Given the description of an element on the screen output the (x, y) to click on. 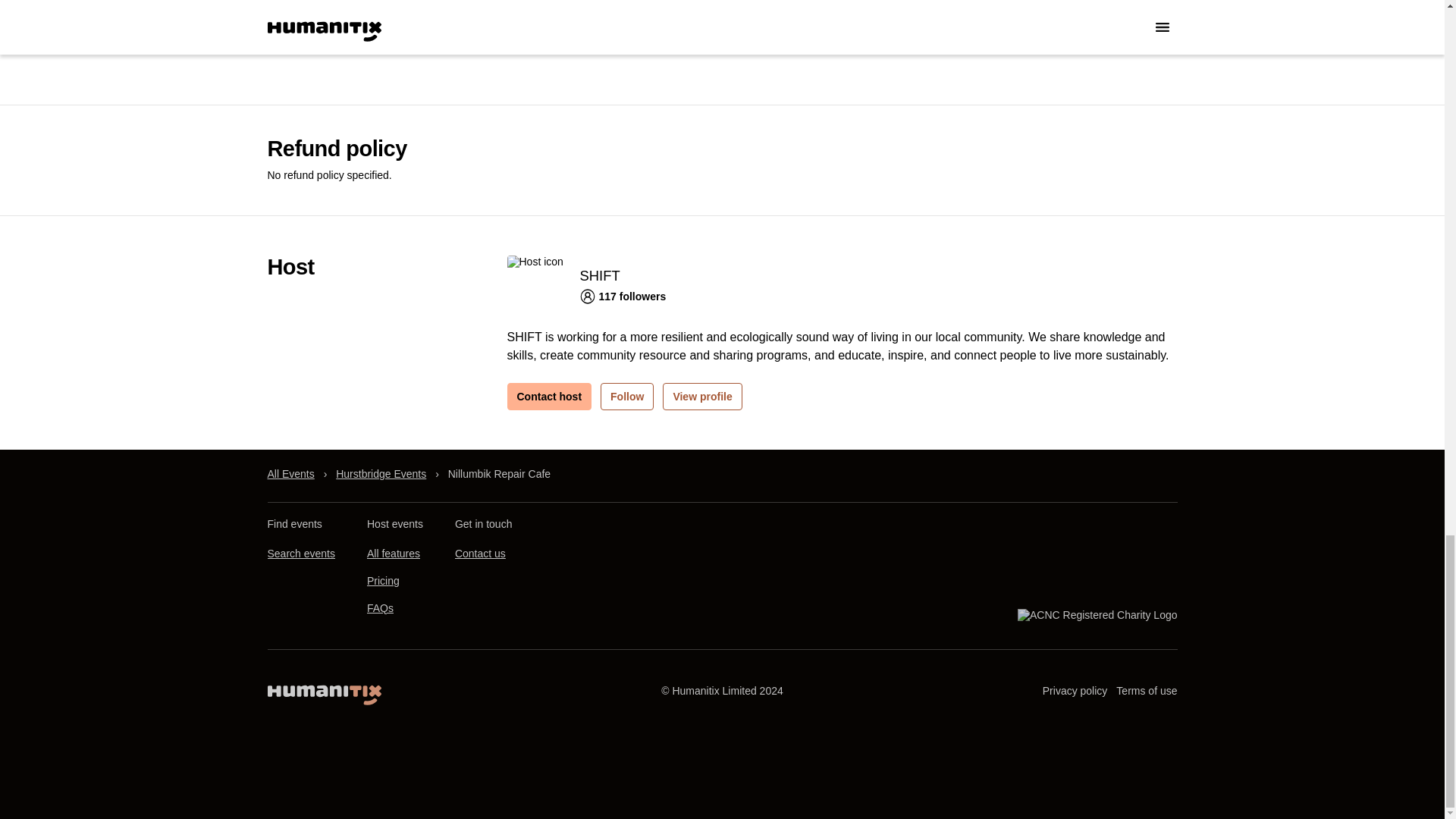
View profile (701, 396)
Contact host (548, 396)
Follow (626, 396)
